Given the description of an element on the screen output the (x, y) to click on. 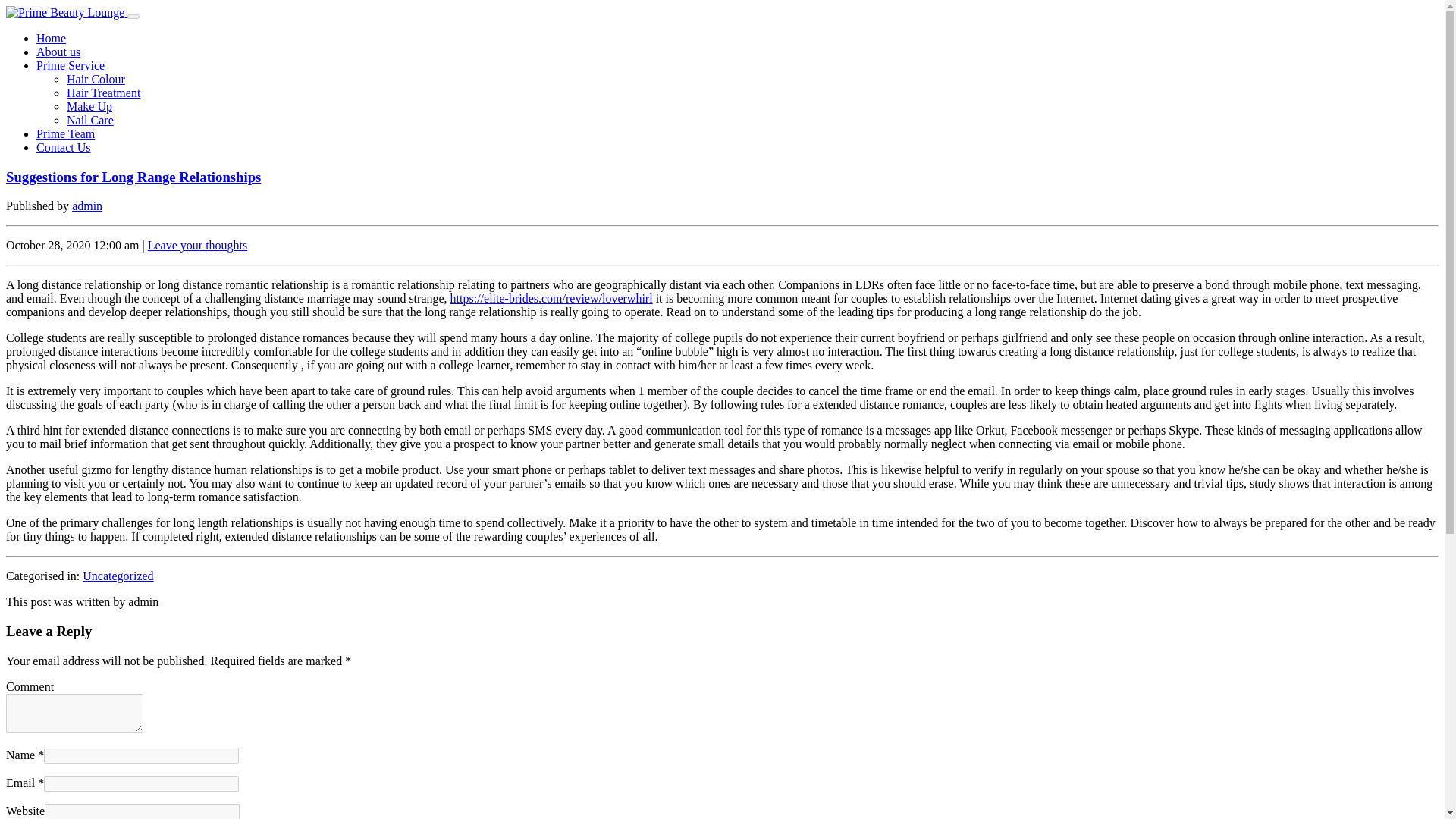
About us (58, 51)
Posts by admin (86, 205)
Uncategorized (117, 575)
Nail Care (89, 119)
Hair Colour (95, 78)
Leave your thoughts (197, 245)
Prime Team (65, 133)
Make Up (89, 106)
Contact Us (63, 146)
Hair Treatment (102, 92)
admin (86, 205)
Suggestions for Long Range Relationships (132, 176)
Suggestions for Long Range Relationships (132, 176)
Prime Service (70, 65)
Home (50, 38)
